Given the description of an element on the screen output the (x, y) to click on. 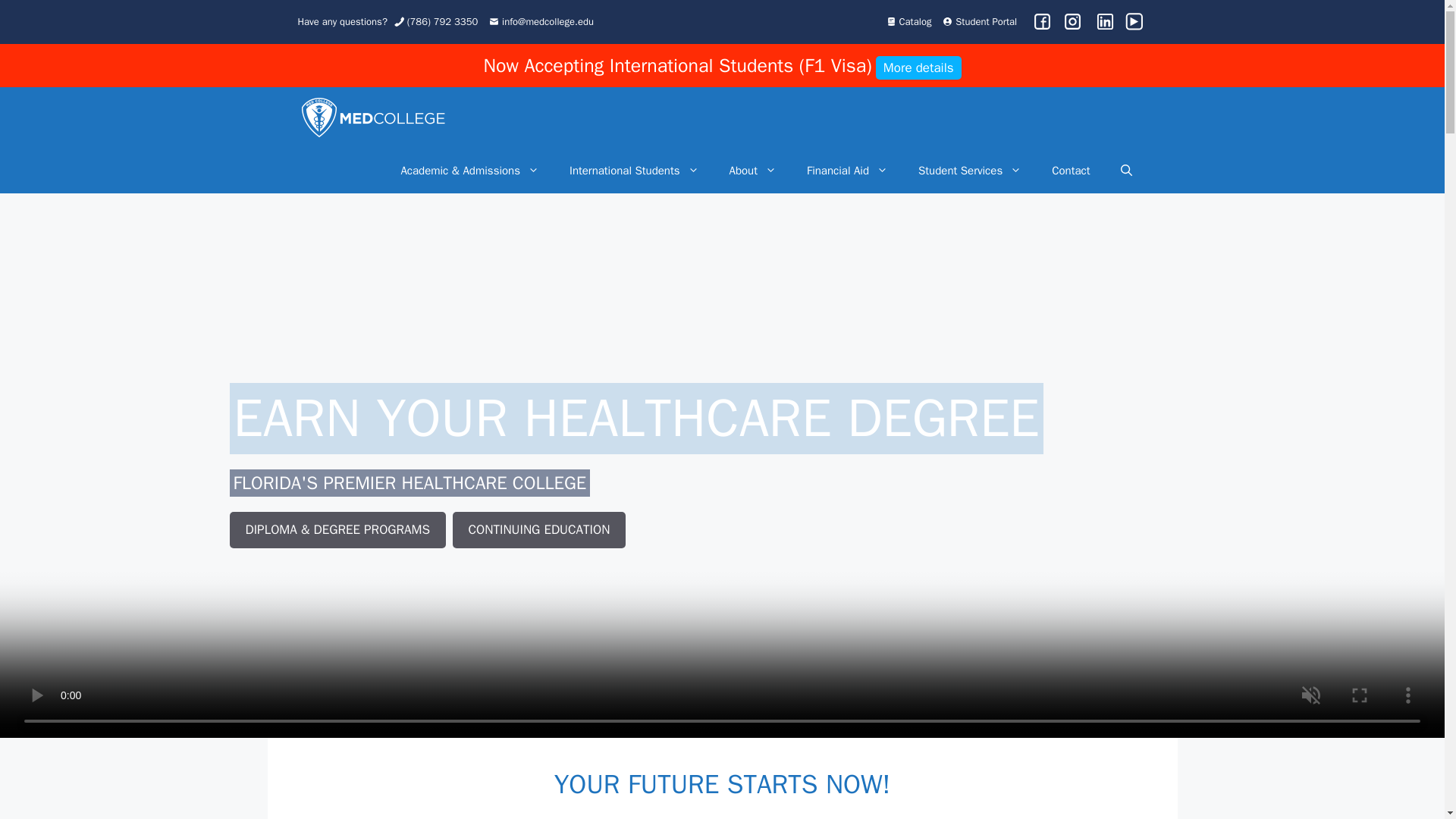
Catalog (908, 21)
Instagram (1074, 21)
Student Portal (979, 21)
More details (918, 68)
